Given the description of an element on the screen output the (x, y) to click on. 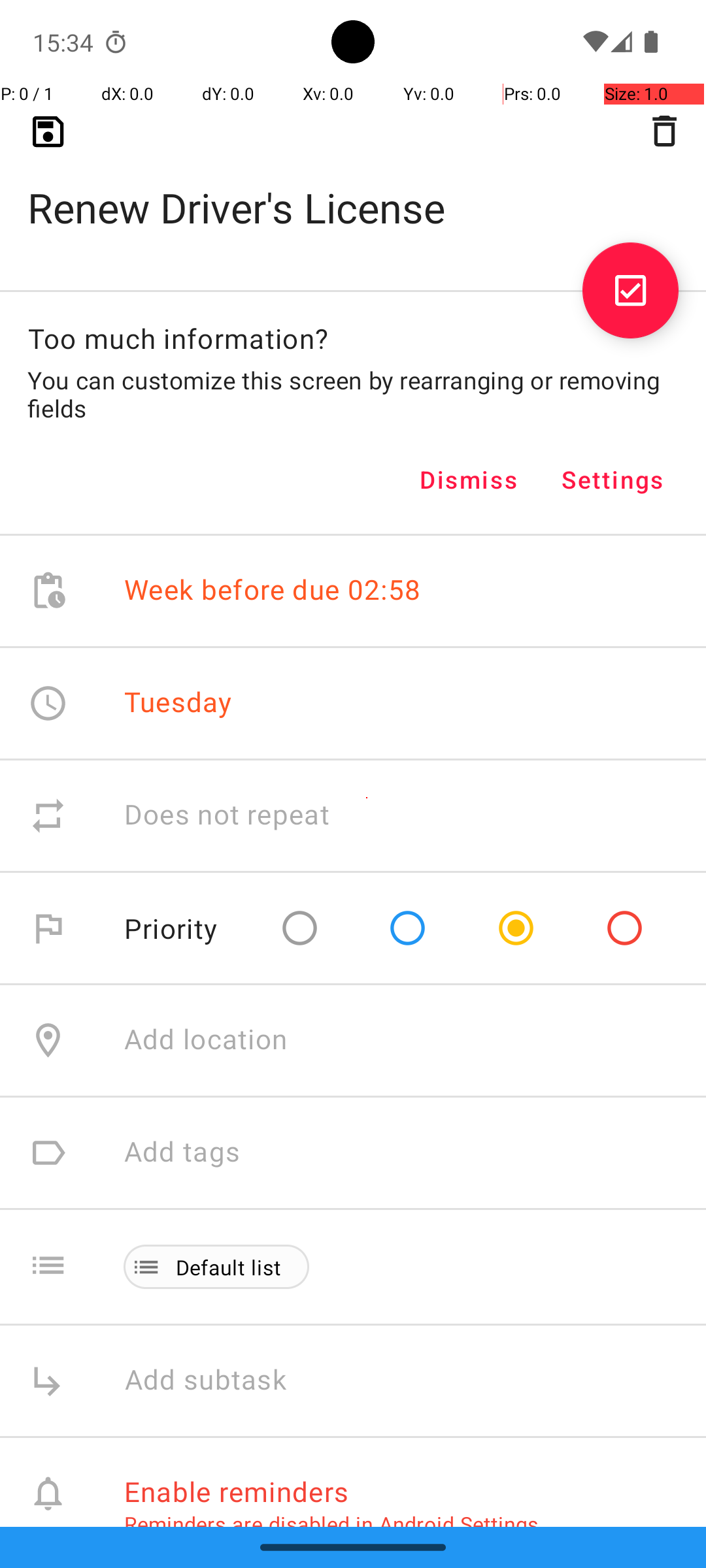
Week before due 02:58 Element type: android.widget.TextView (272, 590)
